Given the description of an element on the screen output the (x, y) to click on. 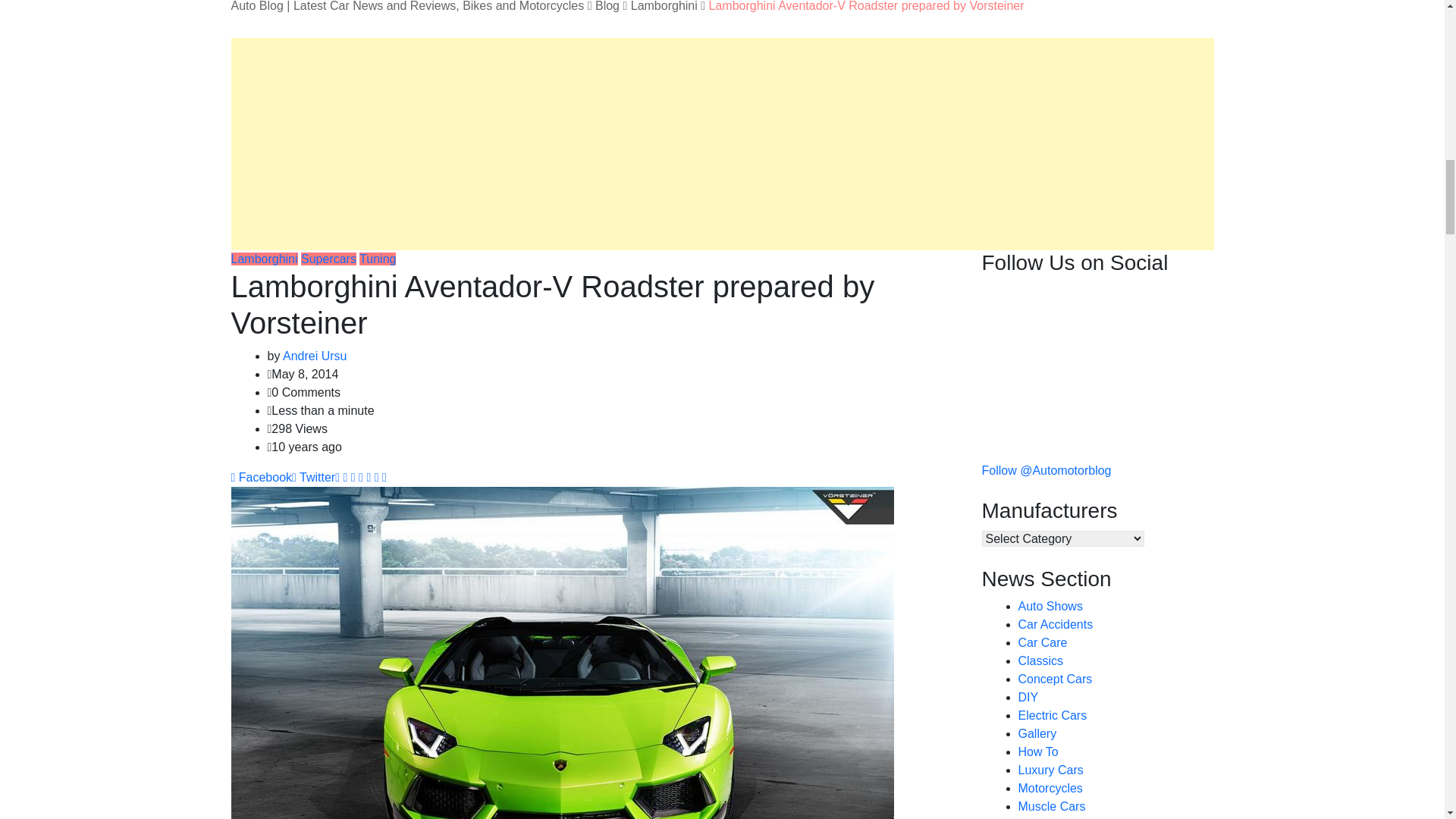
Go to Blog. (607, 6)
Posts by Andrei Ursu (314, 355)
Go to the Lamborghini Category archives. (663, 6)
